Given the description of an element on the screen output the (x, y) to click on. 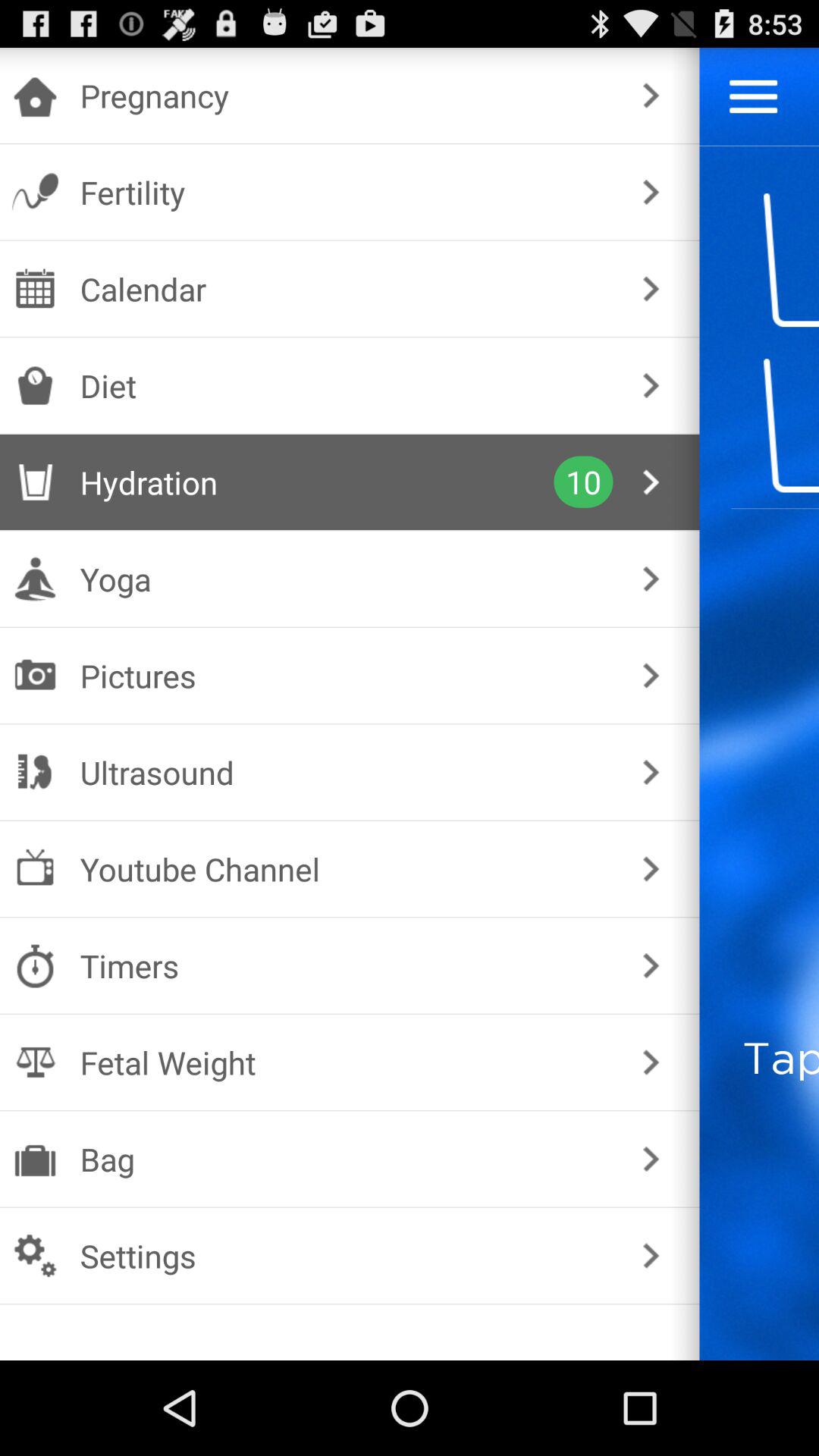
click the calendar (346, 288)
